Given the description of an element on the screen output the (x, y) to click on. 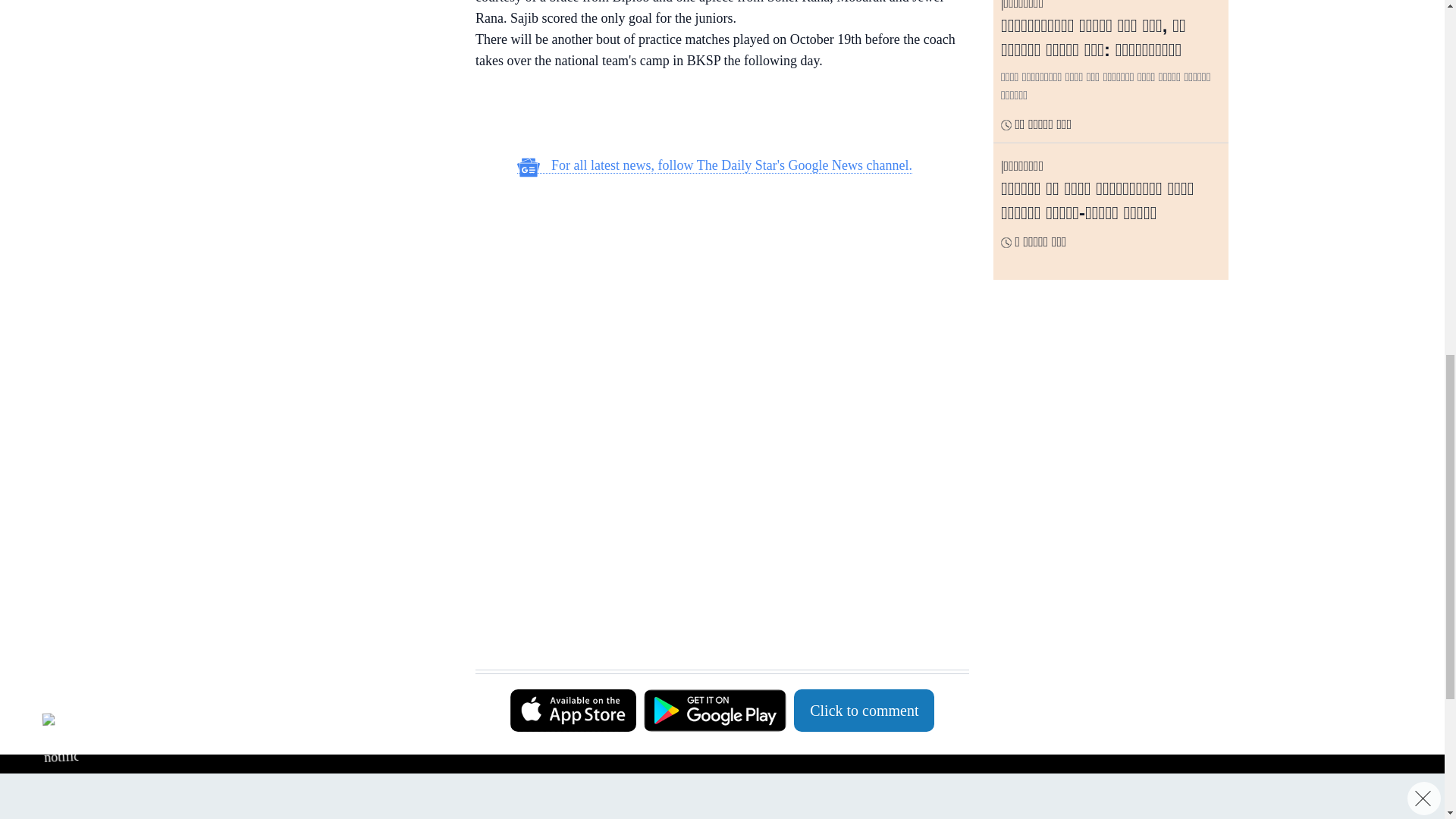
3rd party ad content (713, 491)
3rd party ad content (332, 103)
3rd party ad content (714, 631)
3rd party ad content (713, 286)
3rd party ad content (714, 115)
